Given the description of an element on the screen output the (x, y) to click on. 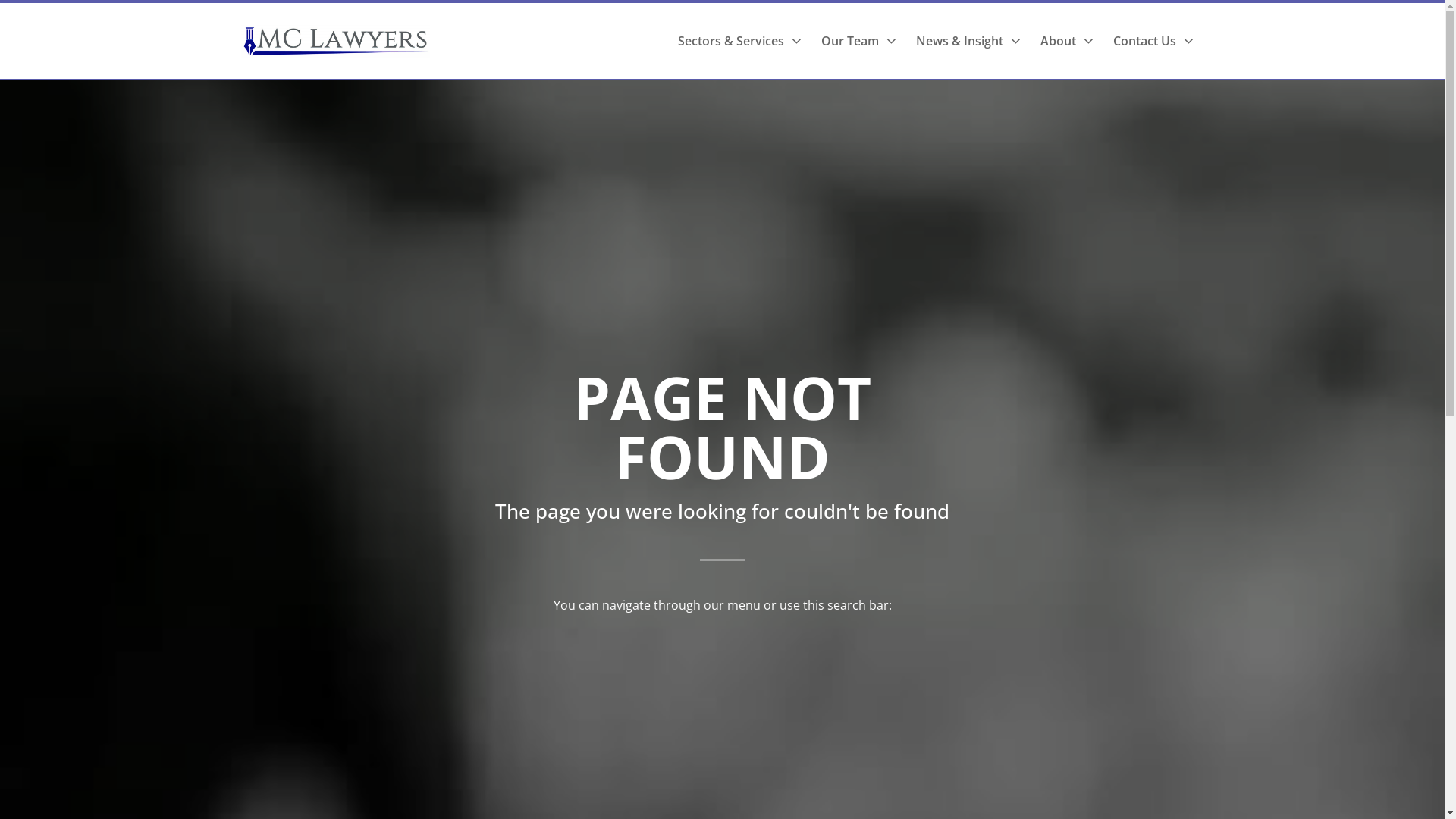
Contact Us Element type: text (1153, 40)
About Element type: text (1066, 40)
Our Team Element type: text (858, 40)
News & Insight Element type: text (968, 40)
Sectors & Services Element type: text (739, 40)
